Given the description of an element on the screen output the (x, y) to click on. 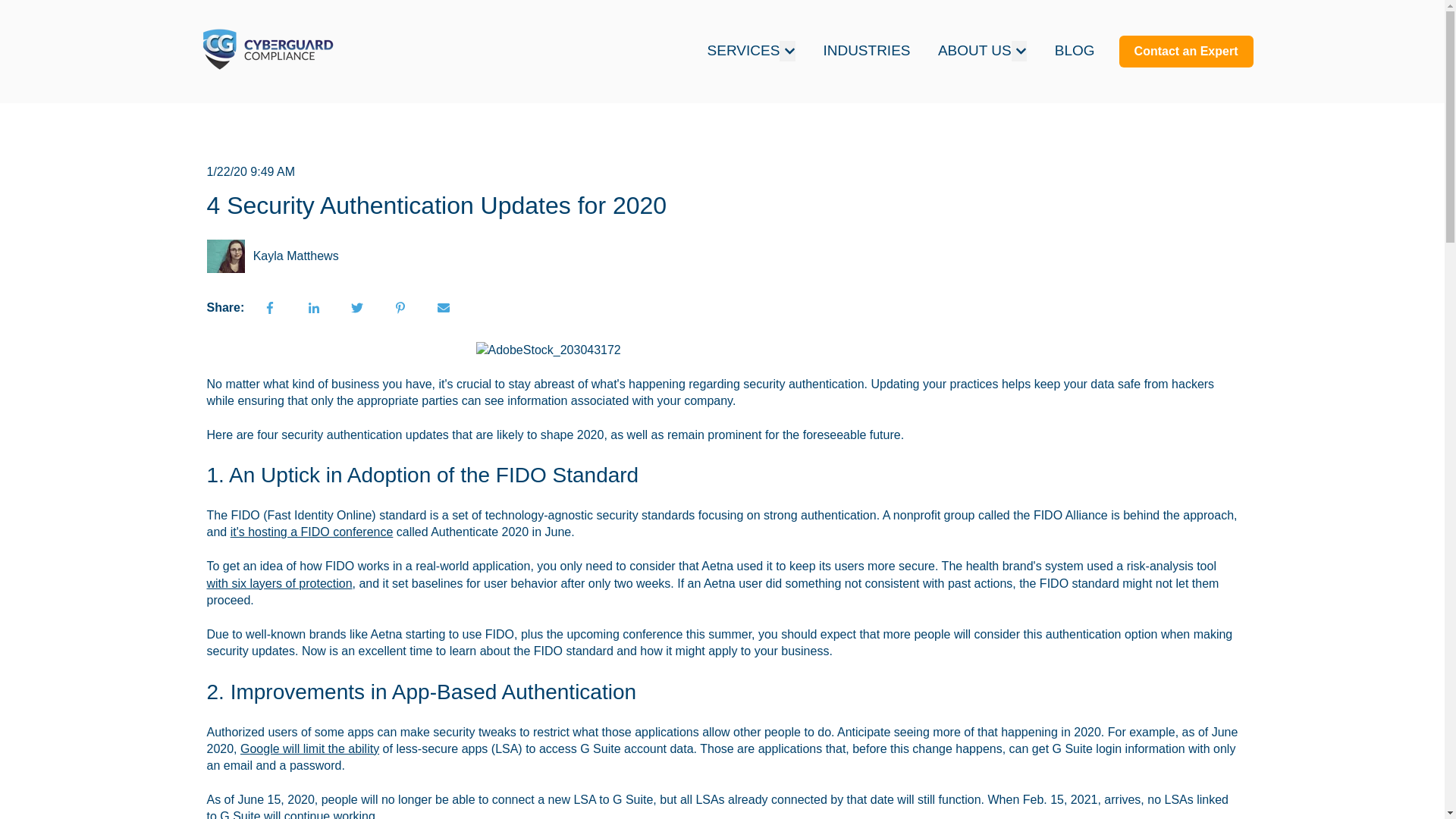
BLOG (1074, 50)
SERVICES (743, 50)
Google will limit the ability (309, 748)
Kayla Matthews (296, 256)
INDUSTRIES (866, 50)
with six layers of protection (279, 583)
ABOUT US (974, 50)
Contact an Expert (1186, 51)
it's hosting a FIDO conference (311, 531)
